Given the description of an element on the screen output the (x, y) to click on. 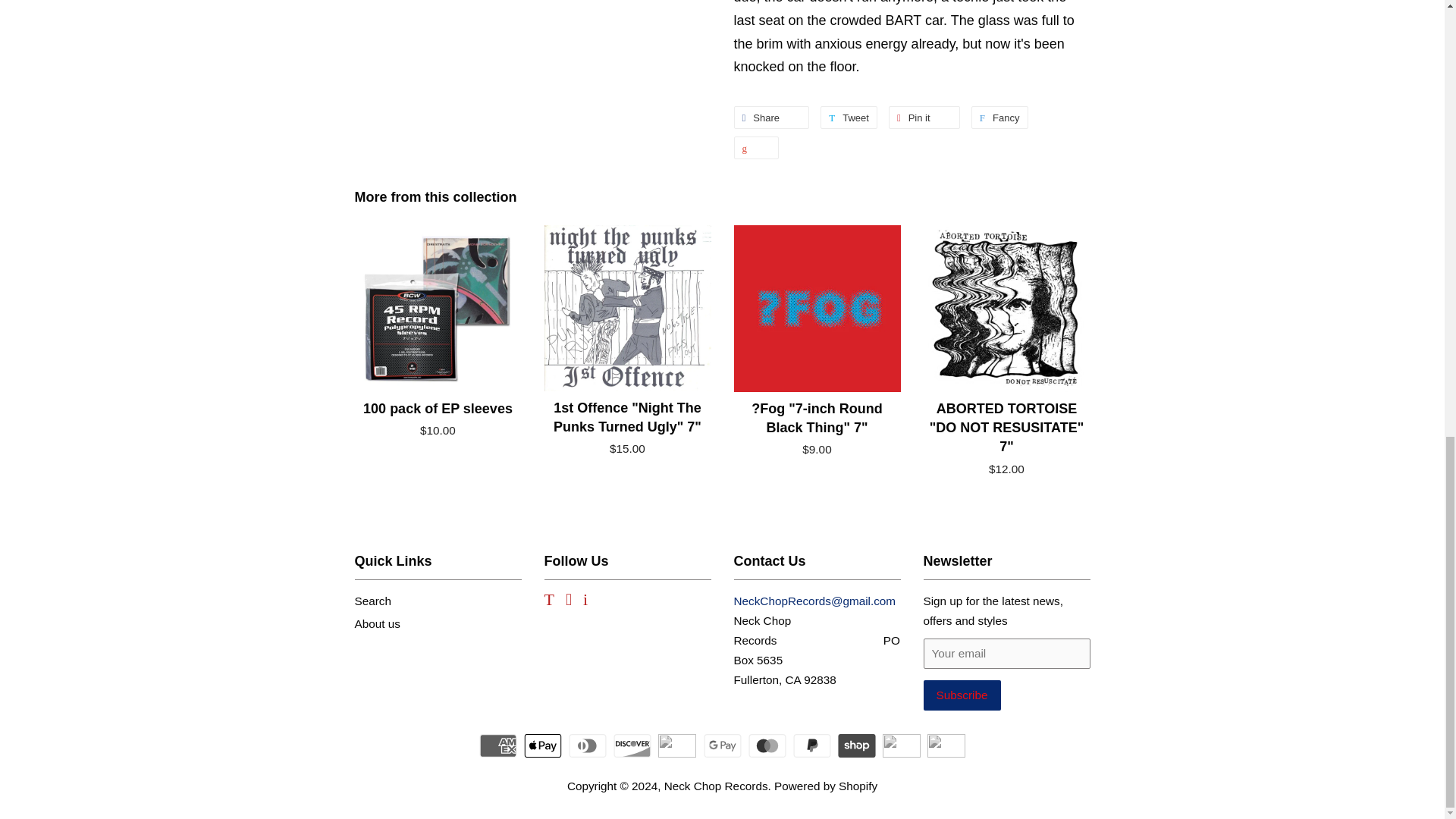
Pin on Pinterest (923, 117)
Add to Fancy (849, 117)
Share on Facebook (923, 117)
Tweet on Twitter (999, 117)
Subscribe (999, 117)
